Given the description of an element on the screen output the (x, y) to click on. 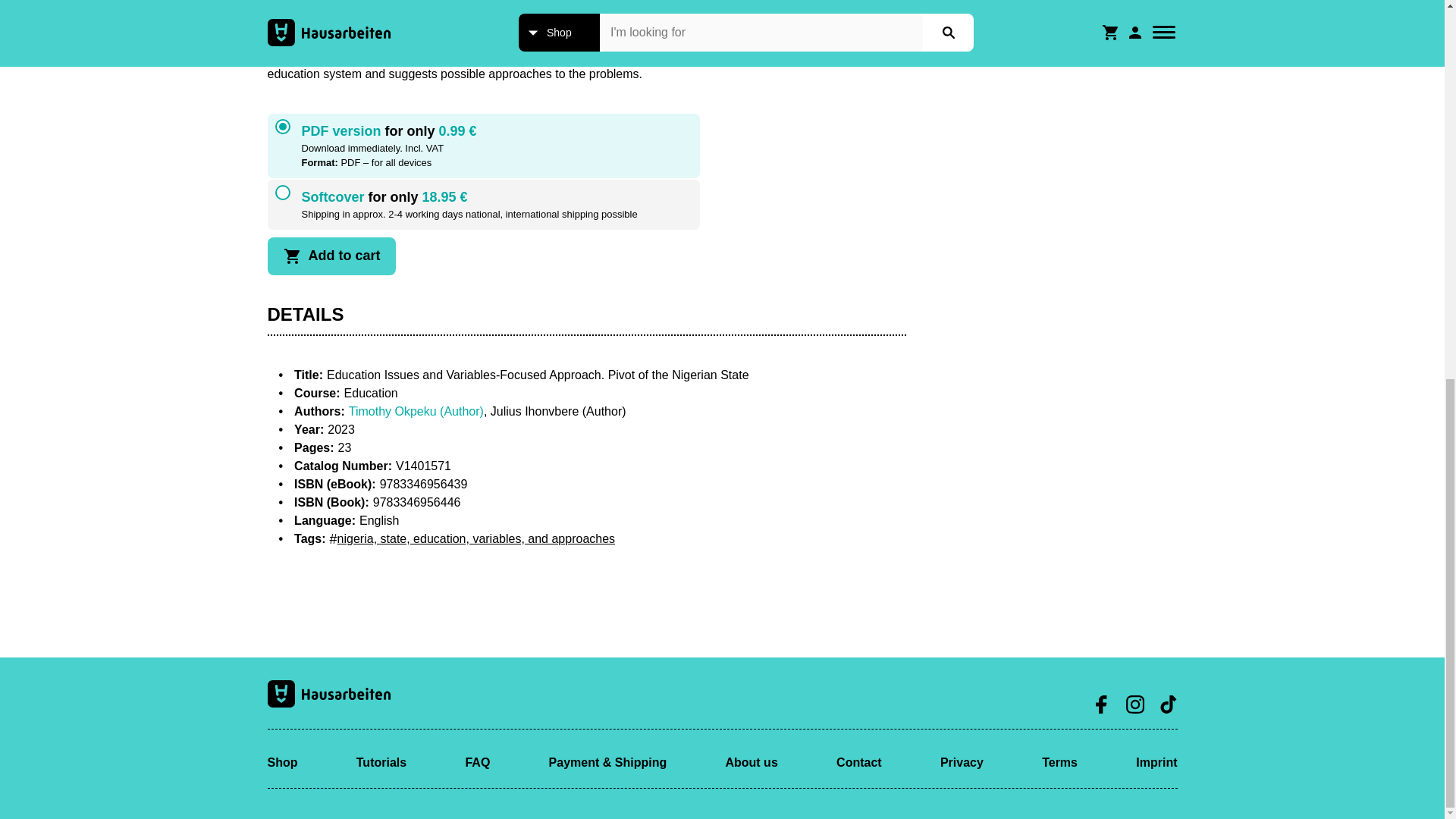
Tutorials (381, 762)
About us (751, 762)
TikTok (1167, 704)
Shop (281, 762)
Facebook (1100, 704)
nigeria, state, education, variables, and approaches (472, 538)
Instagram (1133, 704)
Add to cart (330, 256)
Contact (858, 762)
FAQ (476, 762)
